Given the description of an element on the screen output the (x, y) to click on. 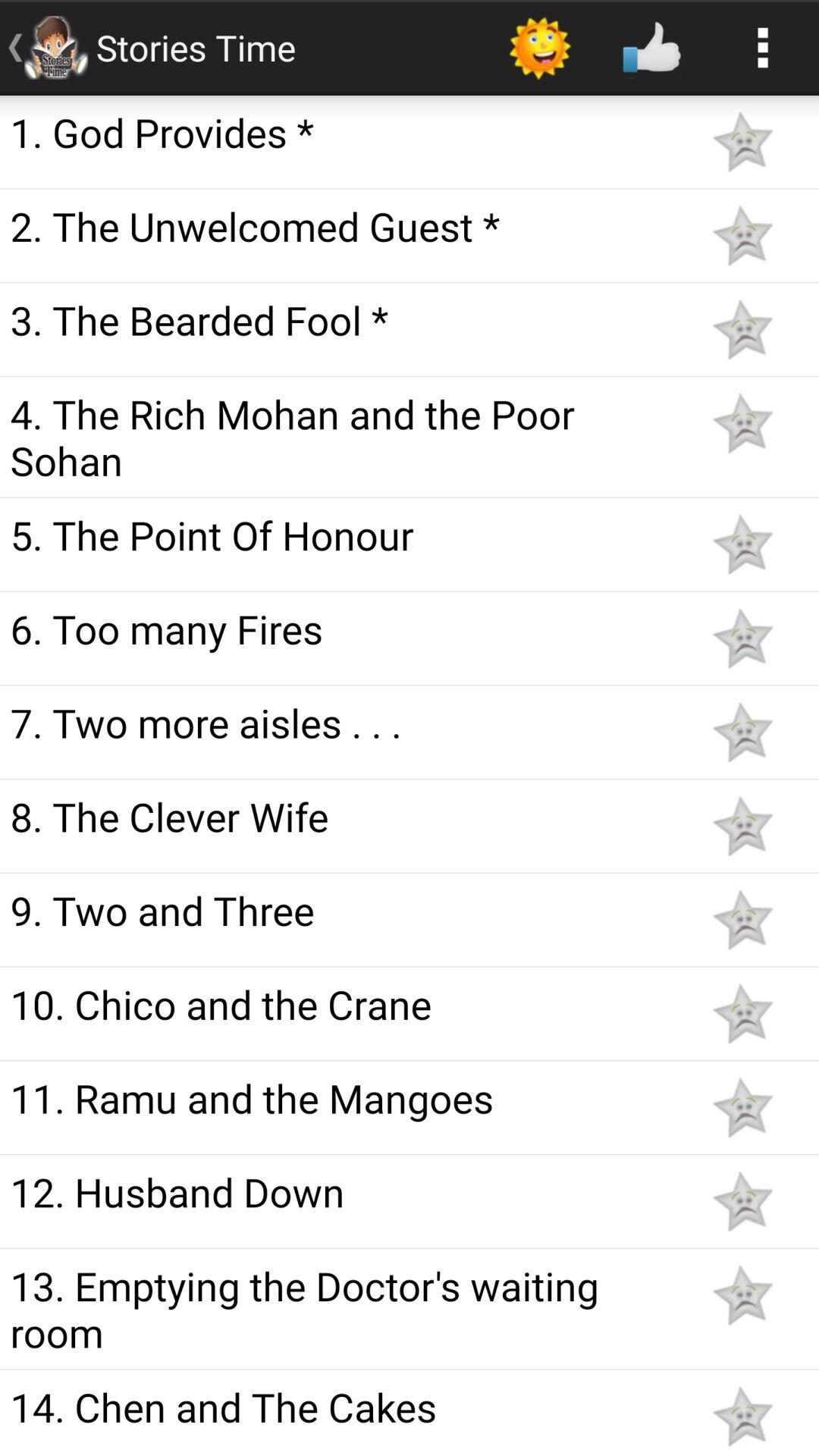
press the app above 14 chen and icon (343, 1308)
